Given the description of an element on the screen output the (x, y) to click on. 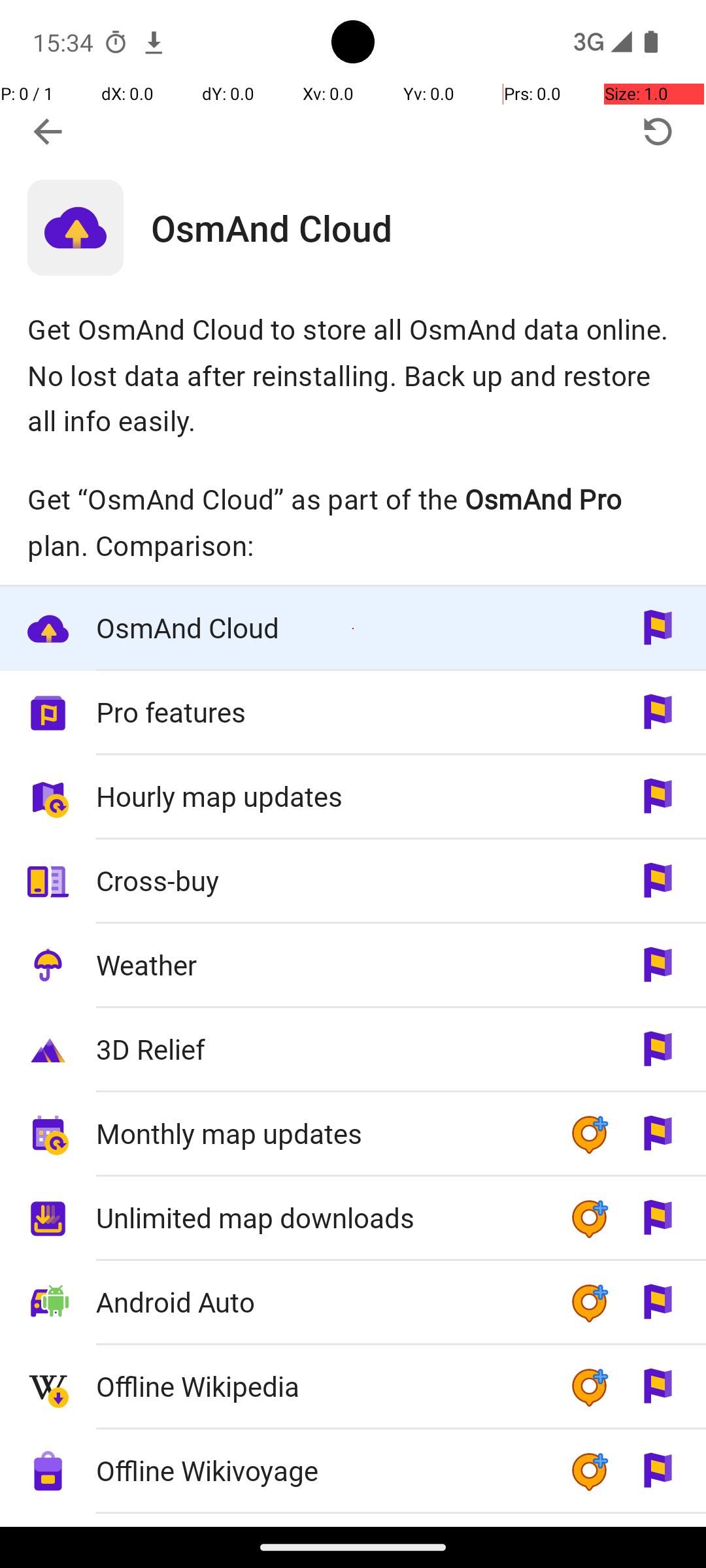
OsmAnd Cloud Element type: android.widget.TextView (428, 227)
Restore purchases Element type: android.widget.ImageButton (657, 131)
Get OsmAnd Cloud to store all OsmAnd data online. No lost data after reinstalling. Back up and restore all info easily. Element type: android.widget.TextView (353, 374)
Get “OsmAnd Cloud” as part of the OsmAnd Pro plan. Comparison: Element type: android.widget.TextView (353, 521)
OsmAnd Cloud available as part of the OsmAnd Pro plan Element type: android.widget.LinearLayout (353, 628)
Pro features available as part of the OsmAnd Pro plan Element type: android.widget.LinearLayout (353, 712)
Hourly map updates available as part of the OsmAnd Pro plan Element type: android.widget.LinearLayout (353, 797)
Cross-buy available as part of the OsmAnd Pro plan Element type: android.widget.LinearLayout (353, 881)
Weather available as part of the OsmAnd Pro plan Element type: android.widget.LinearLayout (353, 965)
3D Relief available as part of the OsmAnd Pro plan Element type: android.widget.LinearLayout (353, 1050)
Monthly map updates available as part of the OsmAnd+ or OsmAnd Pro plan Element type: android.widget.LinearLayout (353, 1134)
Unlimited map downloads available as part of the OsmAnd+ or OsmAnd Pro plan Element type: android.widget.LinearLayout (353, 1218)
Android Auto available as part of the OsmAnd+ or OsmAnd Pro plan Element type: android.widget.LinearLayout (353, 1302)
Offline Wikipedia available as part of the OsmAnd+ or OsmAnd Pro plan Element type: android.widget.LinearLayout (353, 1387)
Offline Wikivoyage available as part of the OsmAnd+ or OsmAnd Pro plan Element type: android.widget.LinearLayout (353, 1471)
External sensors support available as part of the OsmAnd+ or OsmAnd Pro plan Element type: android.widget.LinearLayout (353, 1519)
Pro features Element type: android.widget.TextView (318, 711)
Hourly map updates Element type: android.widget.TextView (318, 795)
Cross-buy Element type: android.widget.TextView (318, 879)
3D Relief Element type: android.widget.TextView (318, 1048)
Monthly map updates Element type: android.widget.TextView (318, 1132)
Unlimited map downloads Element type: android.widget.TextView (318, 1217)
Offline Wikipedia Element type: android.widget.TextView (318, 1385)
Offline Wikivoyage Element type: android.widget.TextView (318, 1469)
External sensors support Element type: android.widget.TextView (318, 1520)
